Given the description of an element on the screen output the (x, y) to click on. 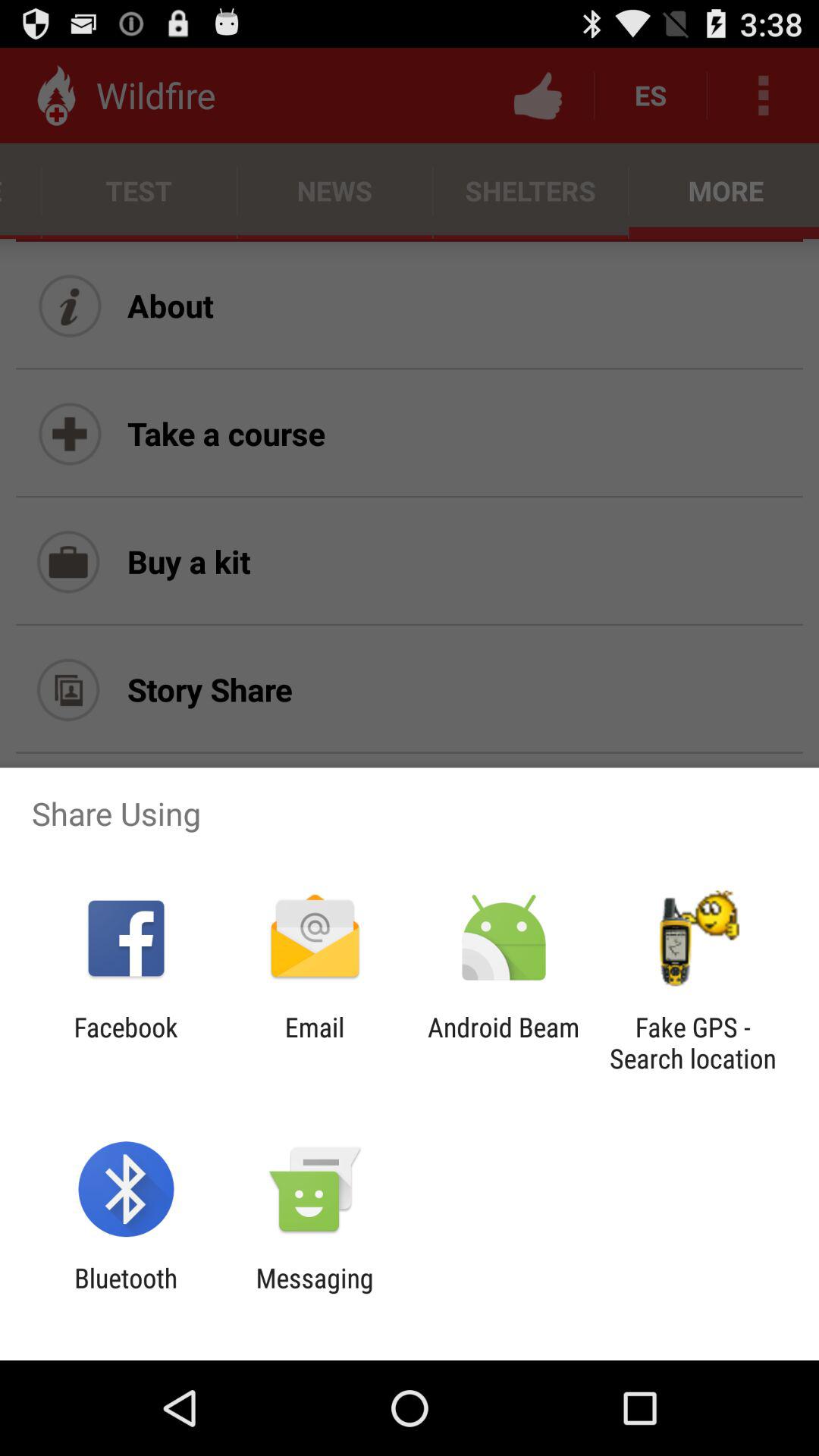
turn off the fake gps search (692, 1042)
